Given the description of an element on the screen output the (x, y) to click on. 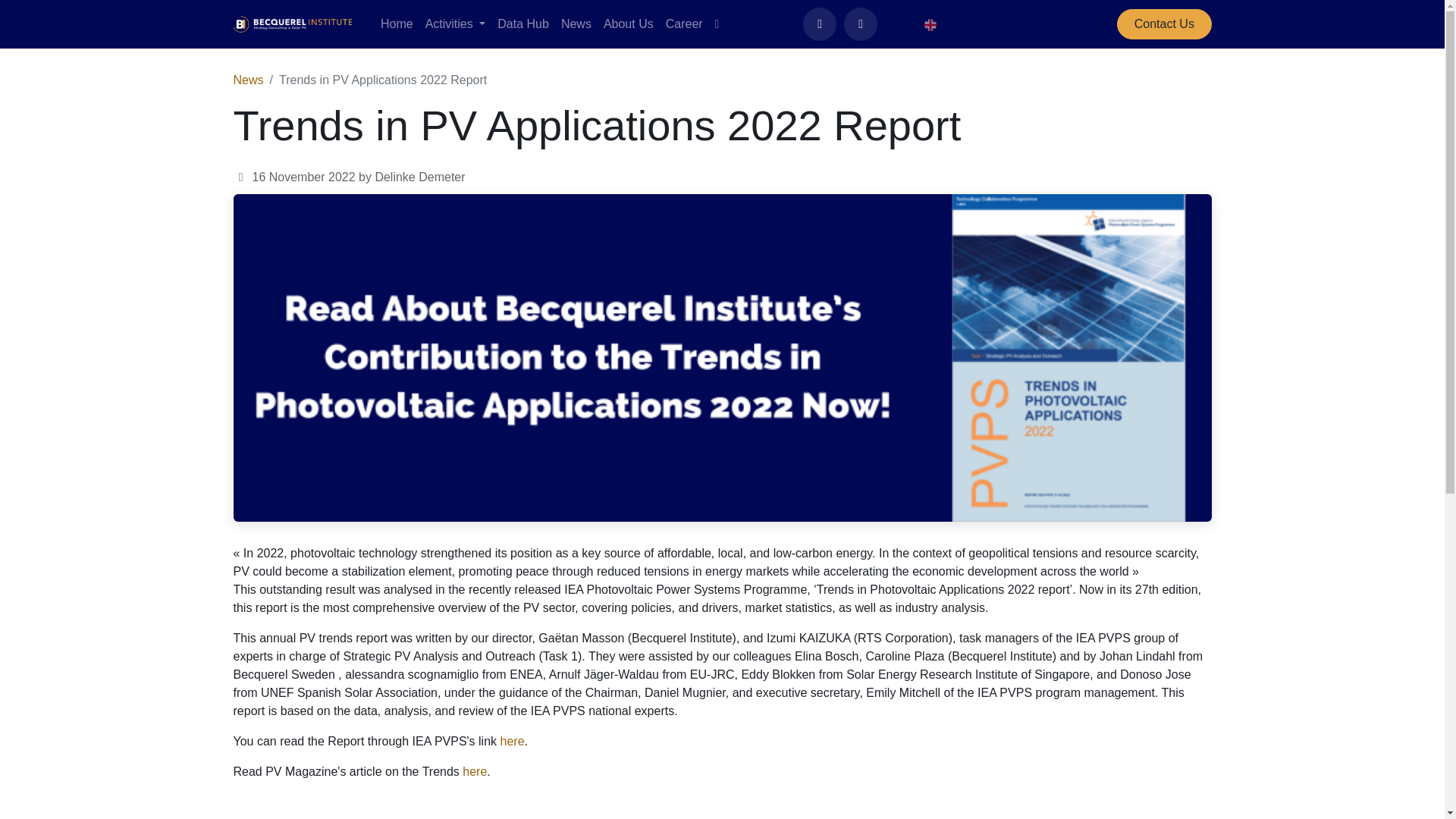
Activities (455, 24)
Career (684, 24)
Contact Us (1163, 24)
Data Hub (523, 24)
Search (860, 23)
Sign in (1073, 24)
Becquerel Institute (292, 23)
About Us (627, 24)
News (575, 24)
Home (396, 24)
